Given the description of an element on the screen output the (x, y) to click on. 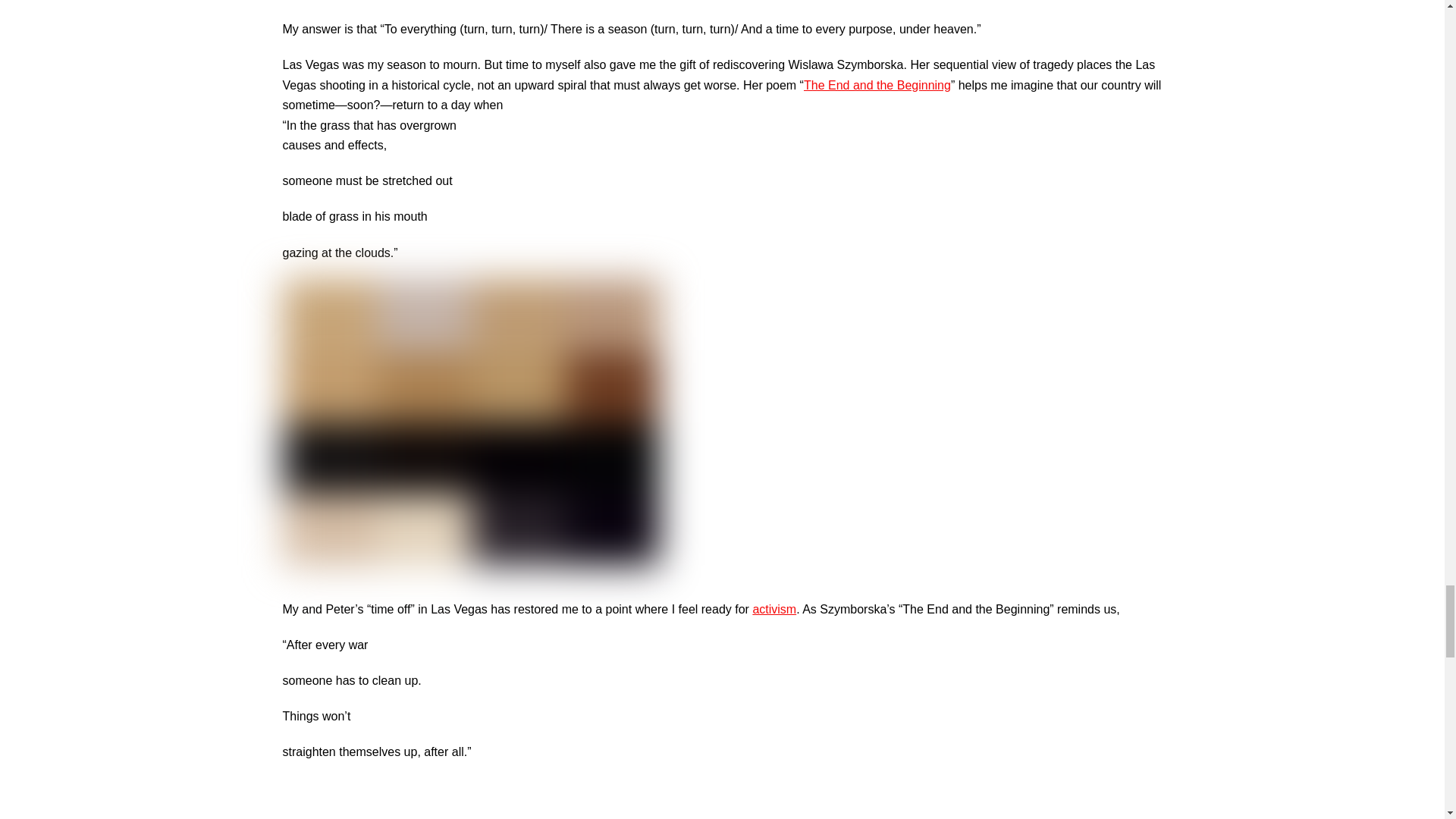
The End and the Beginning (876, 83)
activism (774, 608)
here (572, 817)
